Given the description of an element on the screen output the (x, y) to click on. 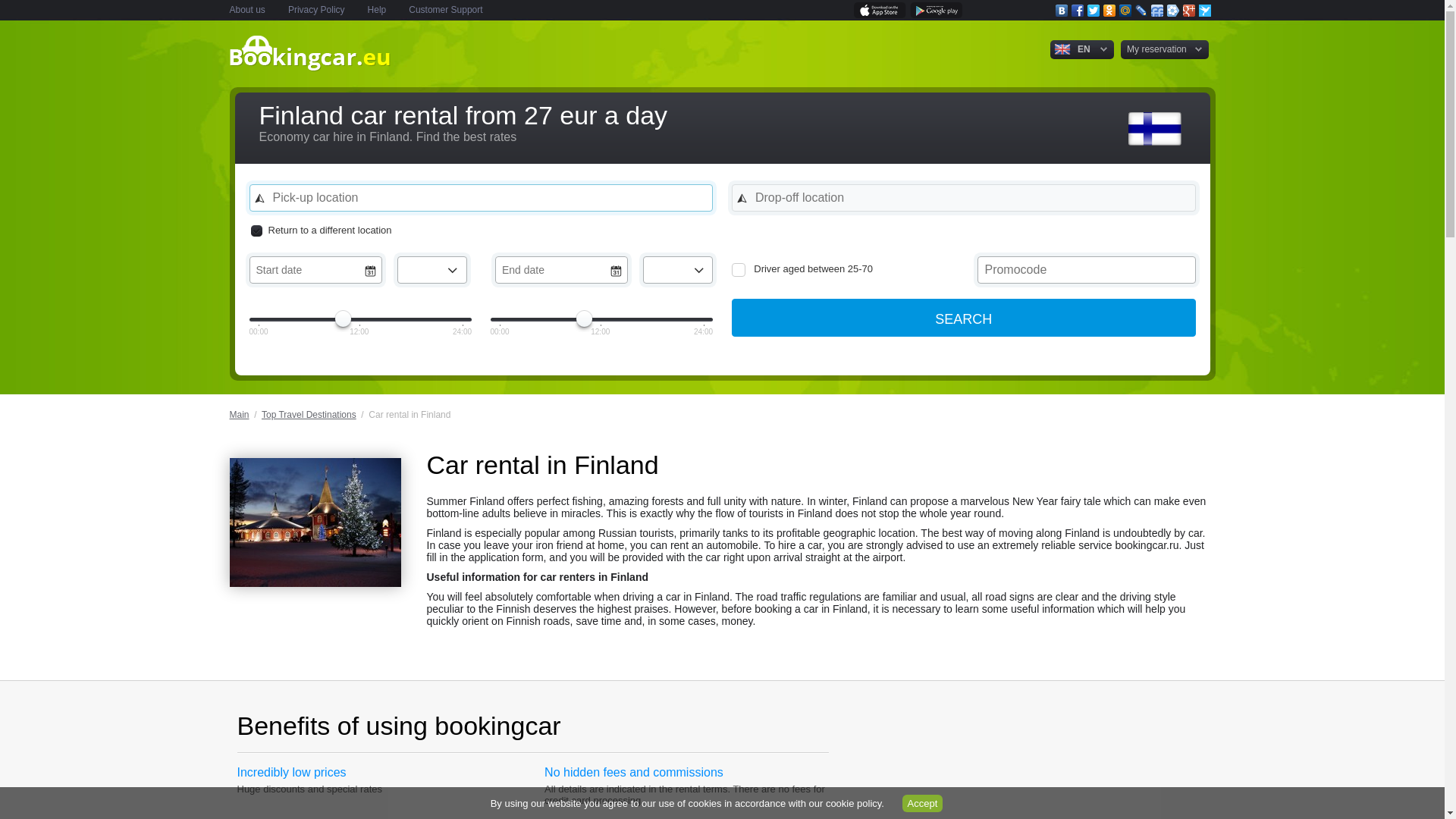
EN (1081, 49)
Customer Support (445, 9)
Privacy Policy (316, 9)
Help (377, 9)
My reservation (1156, 49)
About us (246, 9)
Bookingcar.eu (309, 66)
